Given the description of an element on the screen output the (x, y) to click on. 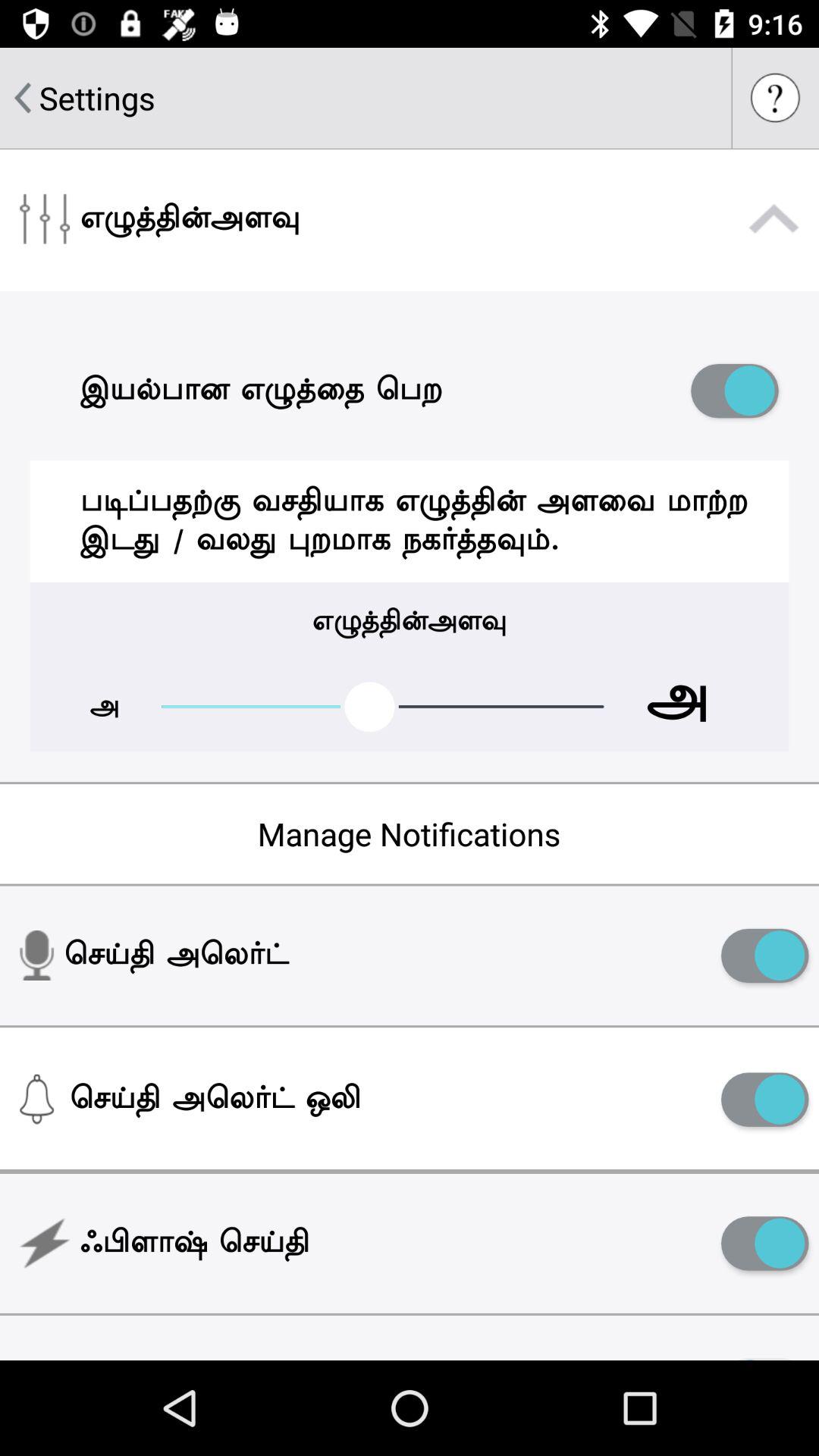
toggle option (764, 1243)
